Given the description of an element on the screen output the (x, y) to click on. 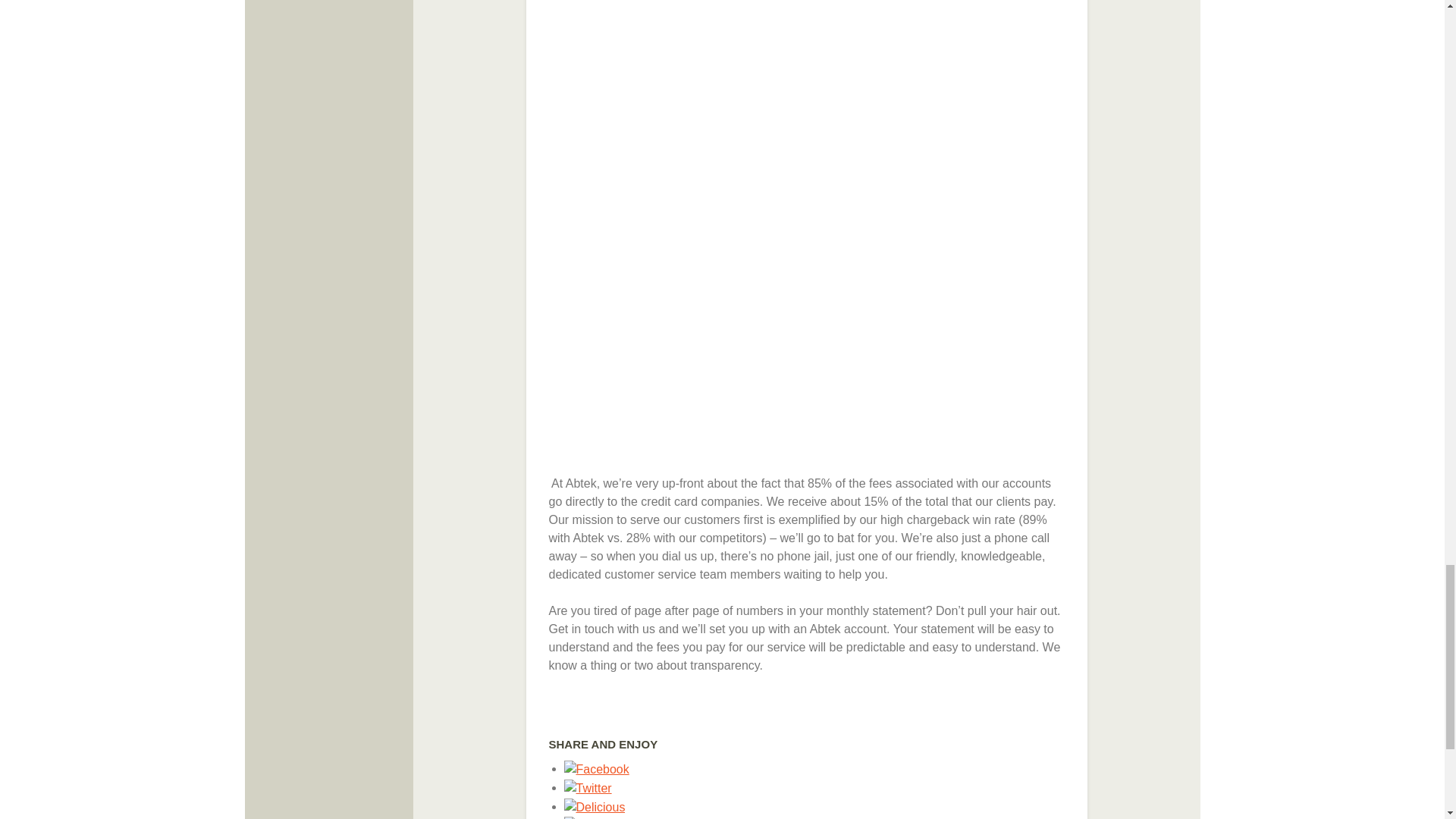
Post this on Delicious (595, 806)
Share this on Facebook (596, 768)
Tweet this ! (587, 787)
